Given the description of an element on the screen output the (x, y) to click on. 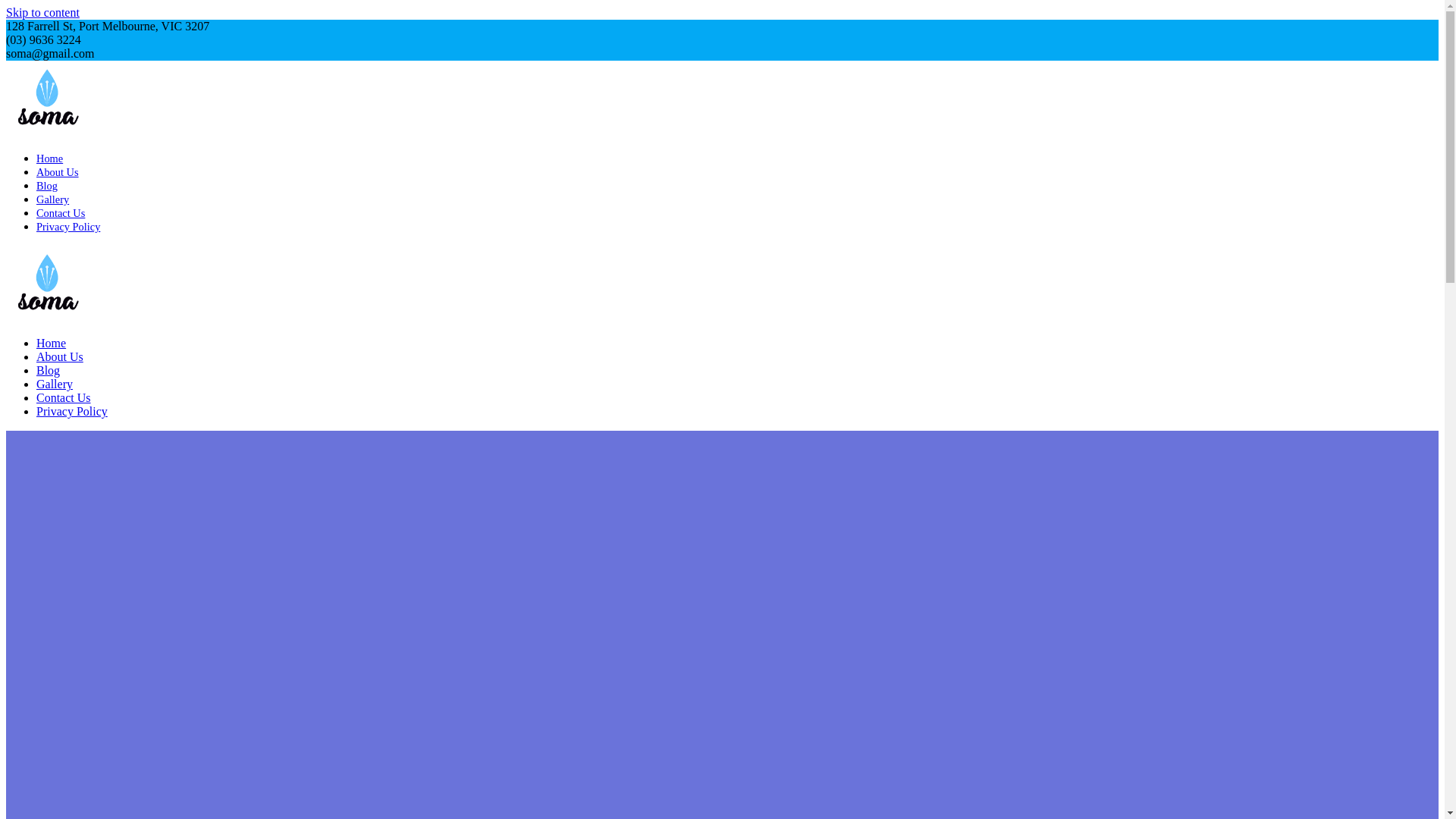
Blog Element type: text (46, 185)
Skip to content Element type: text (42, 12)
Blog Element type: text (47, 370)
Gallery Element type: text (54, 383)
About Us Element type: text (57, 172)
Home Element type: text (50, 342)
About Us Element type: text (59, 356)
Home Element type: text (49, 158)
Privacy Policy Element type: text (68, 226)
Contact Us Element type: text (63, 397)
Gallery Element type: text (52, 199)
Privacy Policy Element type: text (71, 410)
Contact Us Element type: text (60, 213)
